Given the description of an element on the screen output the (x, y) to click on. 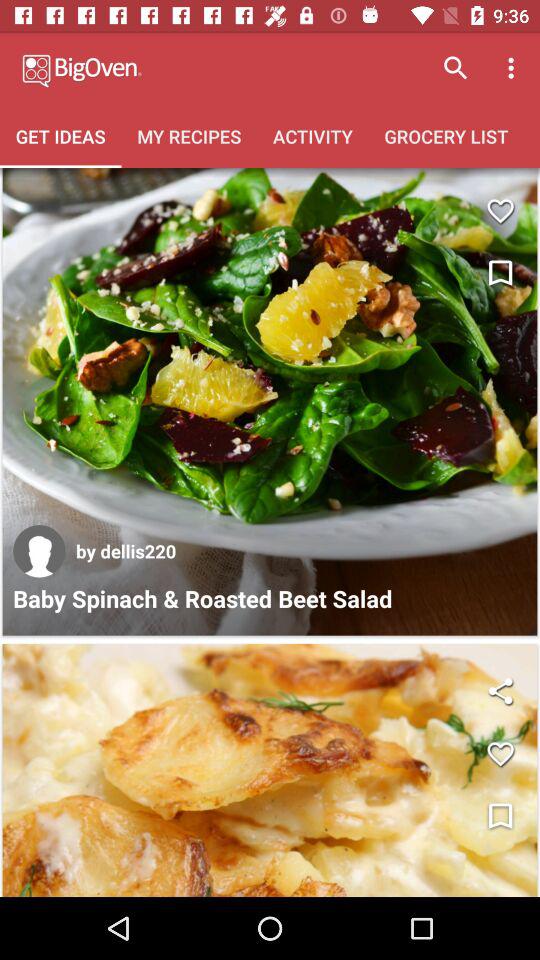
open the by dellis220 item (126, 550)
